Given the description of an element on the screen output the (x, y) to click on. 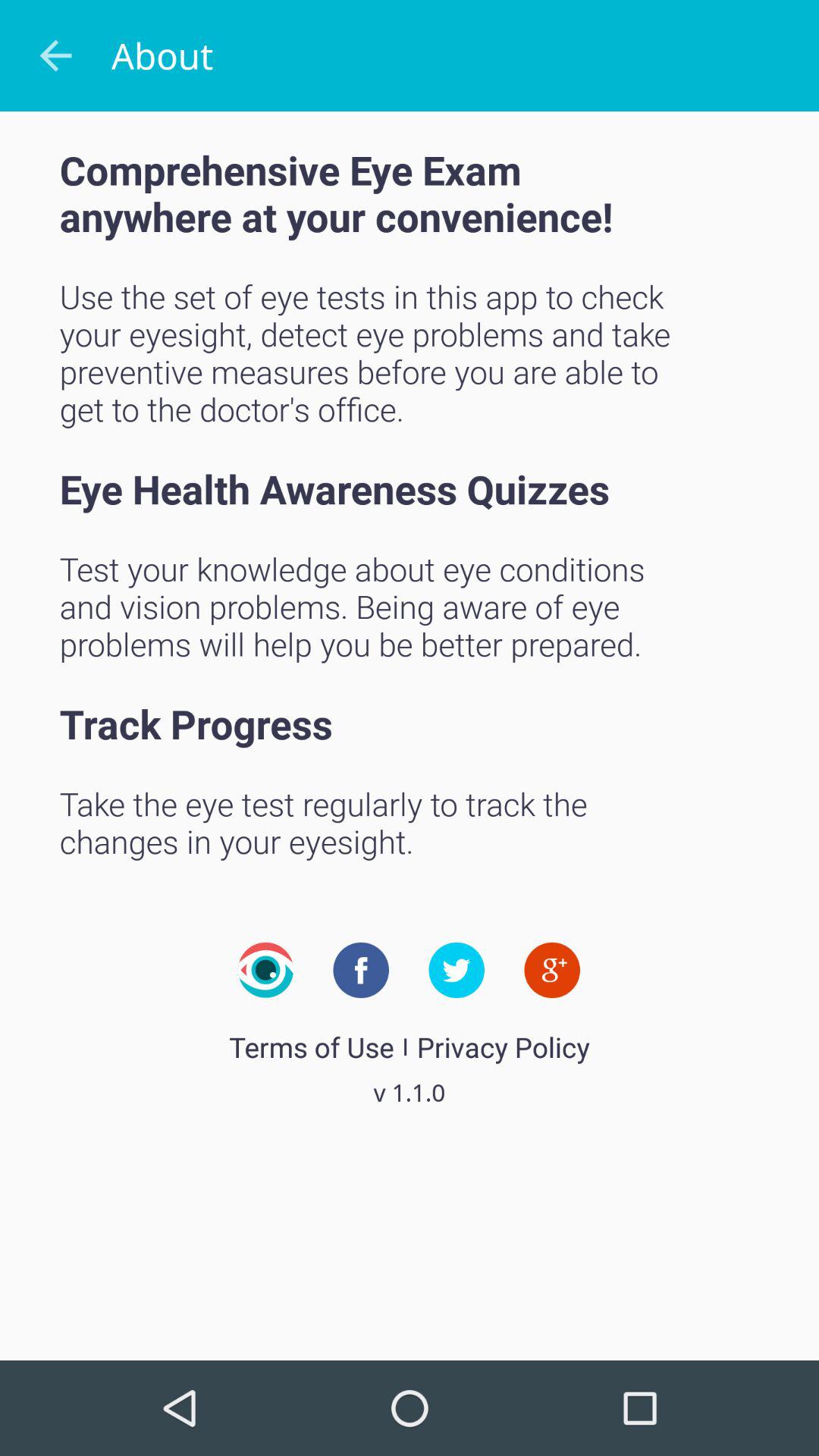
open the item below take the eye item (552, 970)
